Given the description of an element on the screen output the (x, y) to click on. 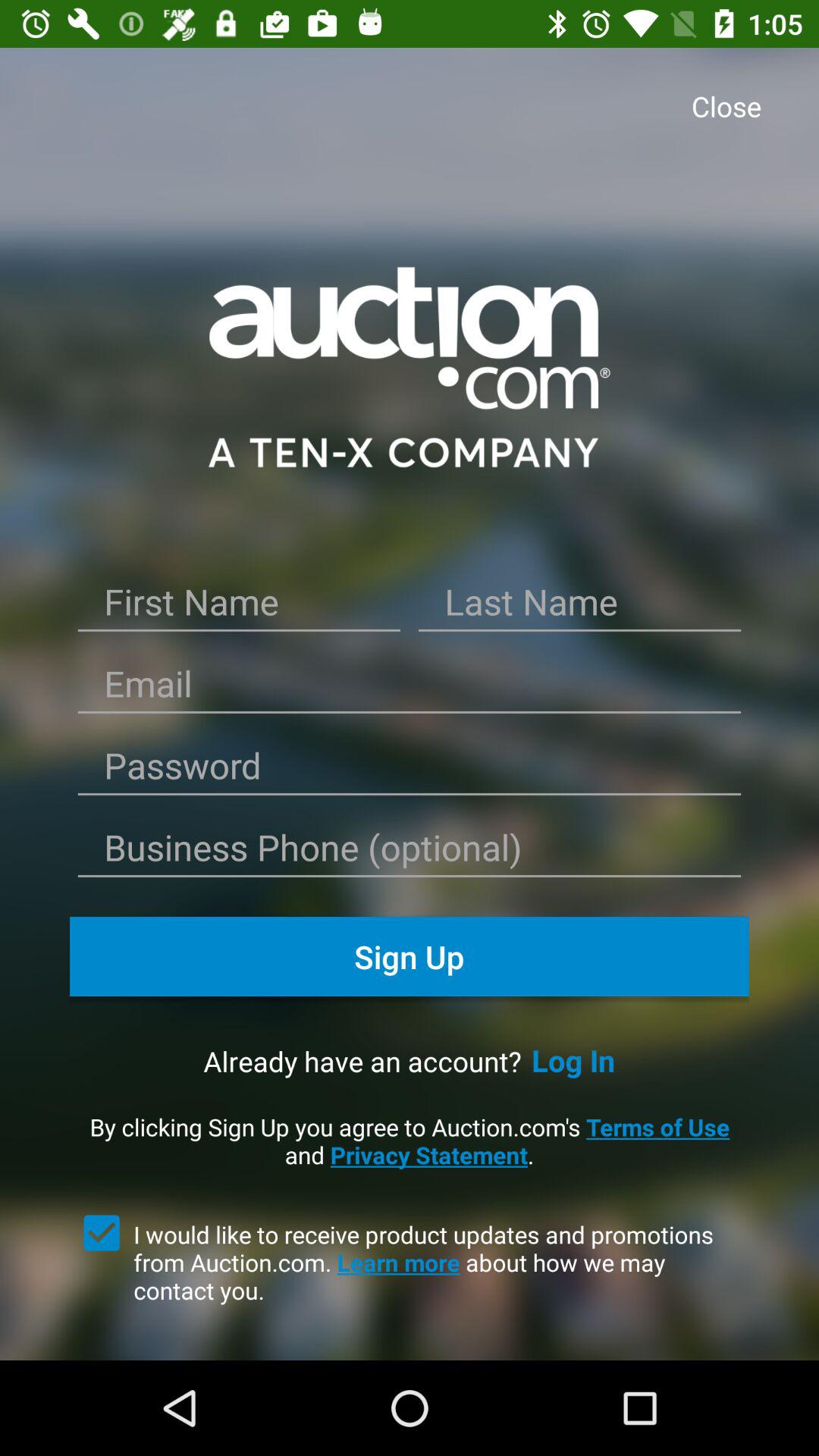
receive emails (101, 1232)
